Given the description of an element on the screen output the (x, y) to click on. 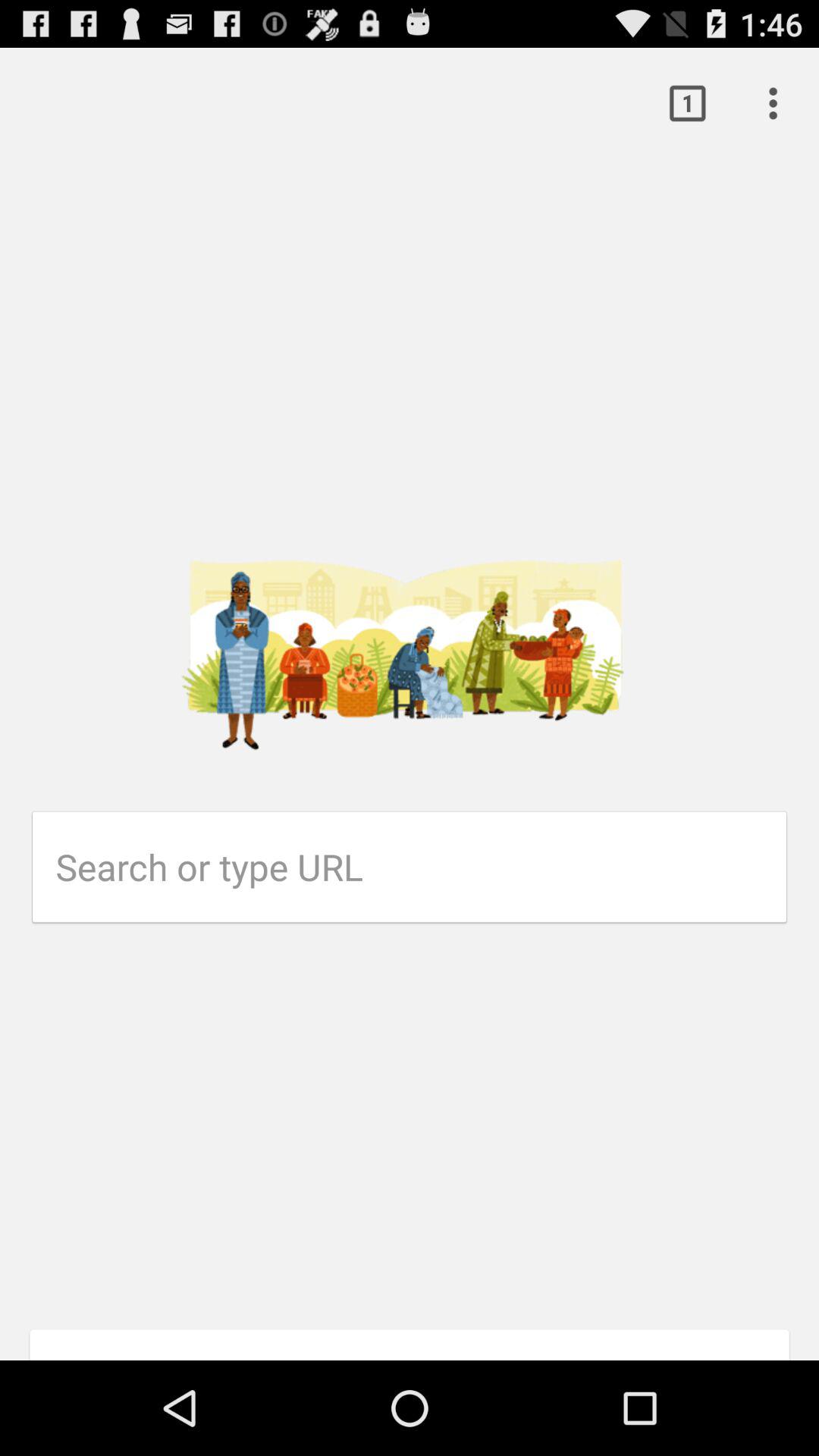
add a url (421, 866)
